Given the description of an element on the screen output the (x, y) to click on. 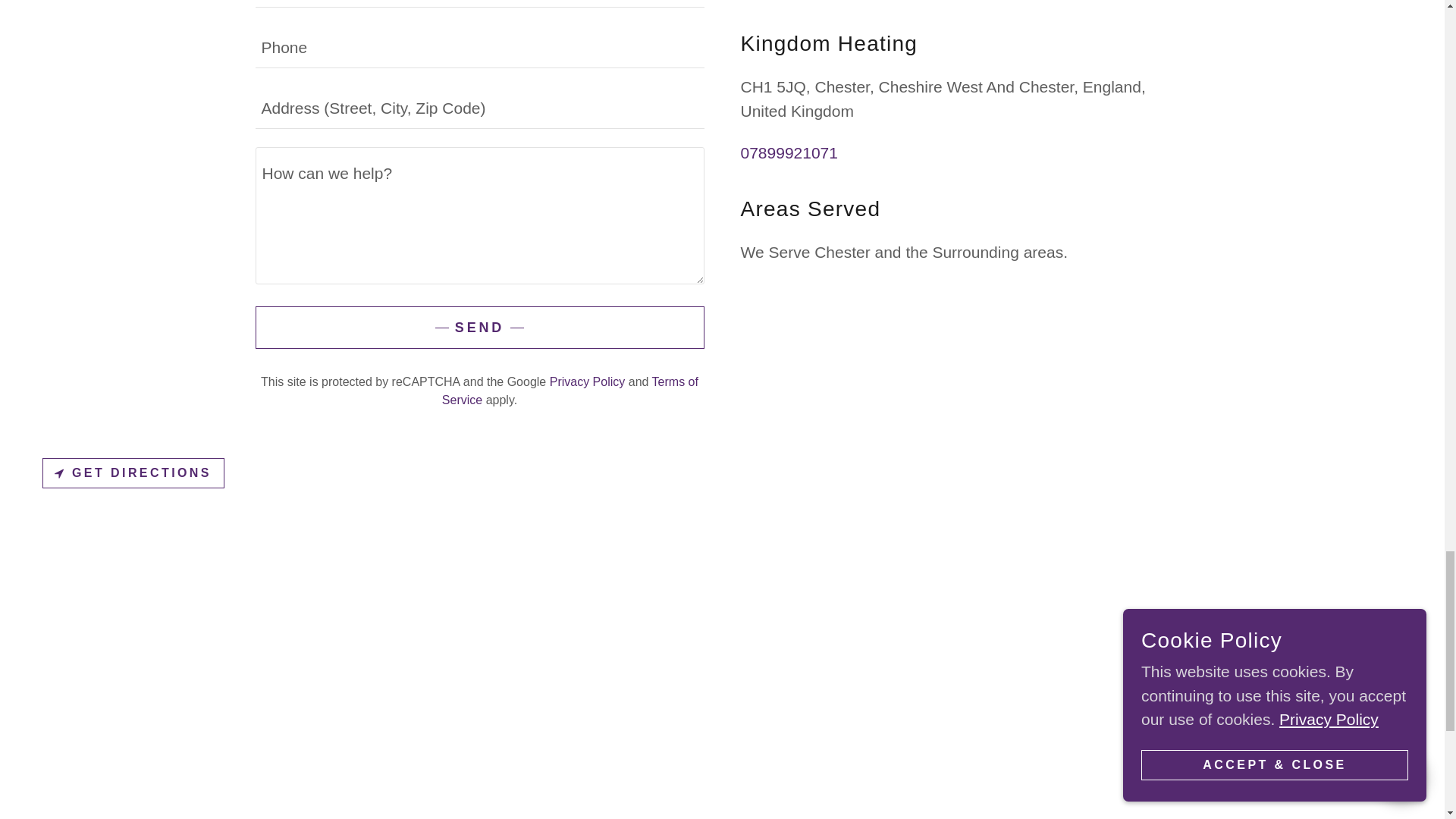
Terms of Service (570, 390)
Privacy Policy (588, 381)
SEND (478, 327)
